Given the description of an element on the screen output the (x, y) to click on. 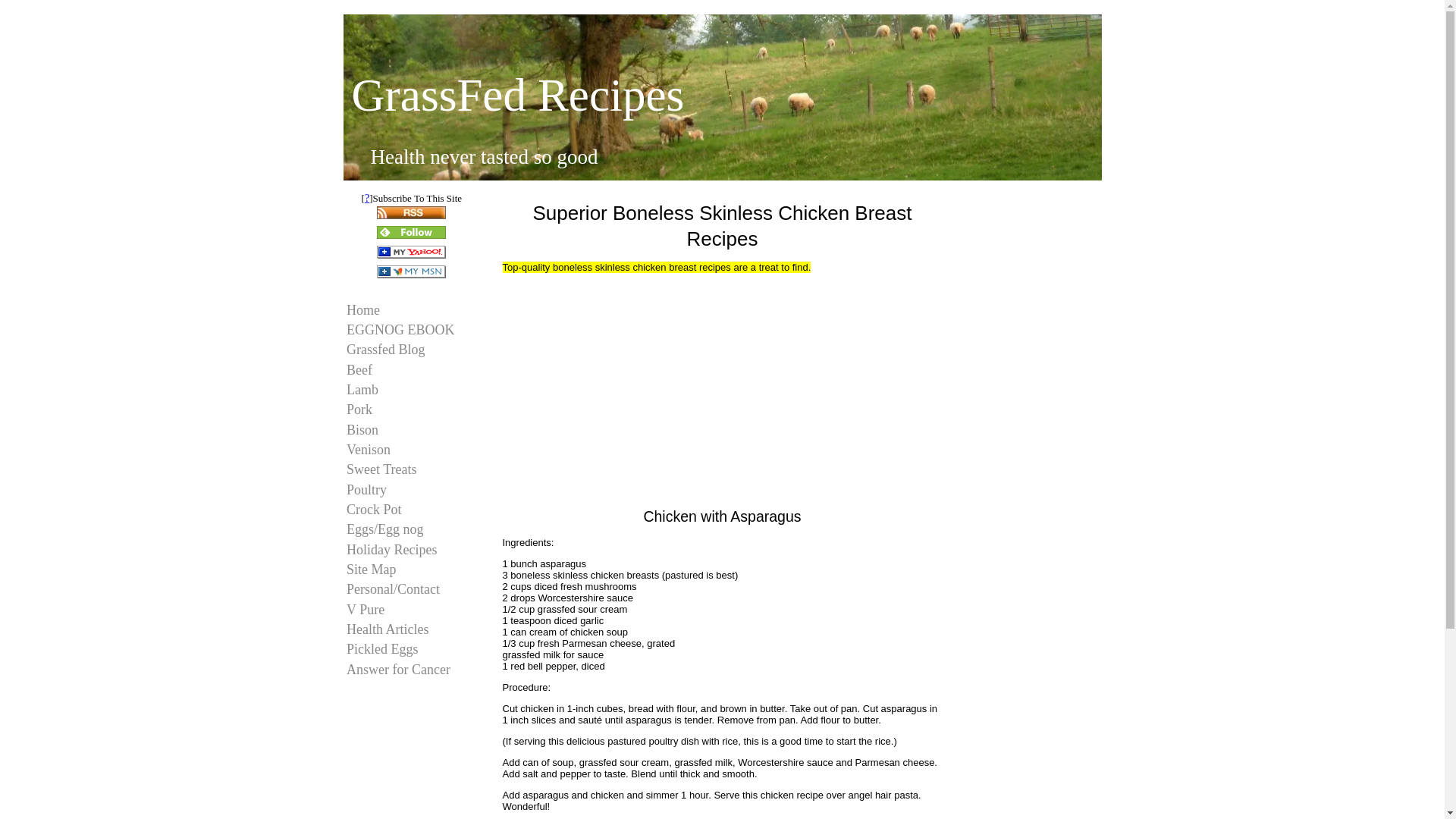
Lamb (411, 389)
Pickled Eggs (411, 650)
Home (411, 310)
Answer for Cancer (411, 669)
Venison (411, 449)
Pork (411, 410)
Sweet Treats (411, 470)
Site Map (411, 569)
Holiday Recipes (411, 549)
Crock Pot (411, 509)
